Given the description of an element on the screen output the (x, y) to click on. 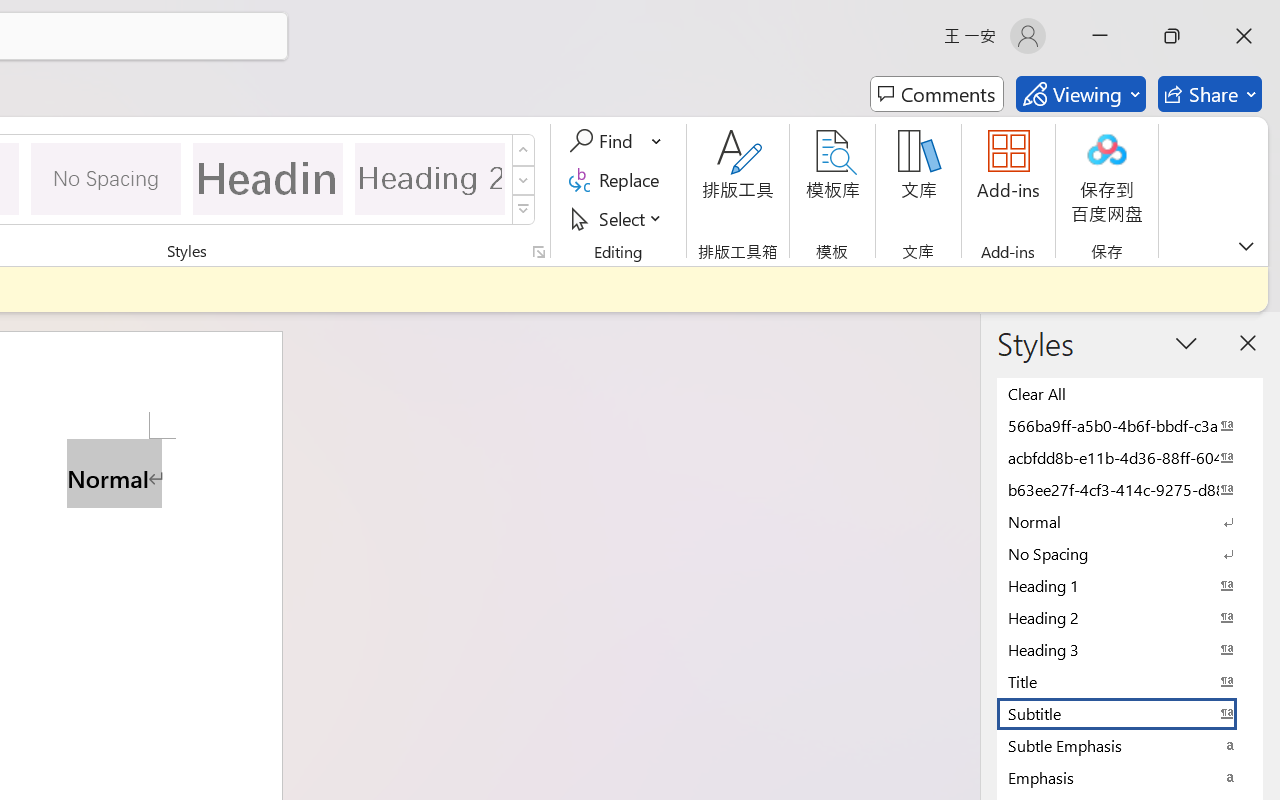
No Spacing (1130, 553)
Heading 1 (267, 178)
Mode (1080, 94)
Select (618, 218)
Title (1130, 681)
Ribbon Display Options (1246, 245)
Row Down (523, 180)
b63ee27f-4cf3-414c-9275-d88e3f90795e (1130, 489)
Row up (523, 150)
